Given the description of an element on the screen output the (x, y) to click on. 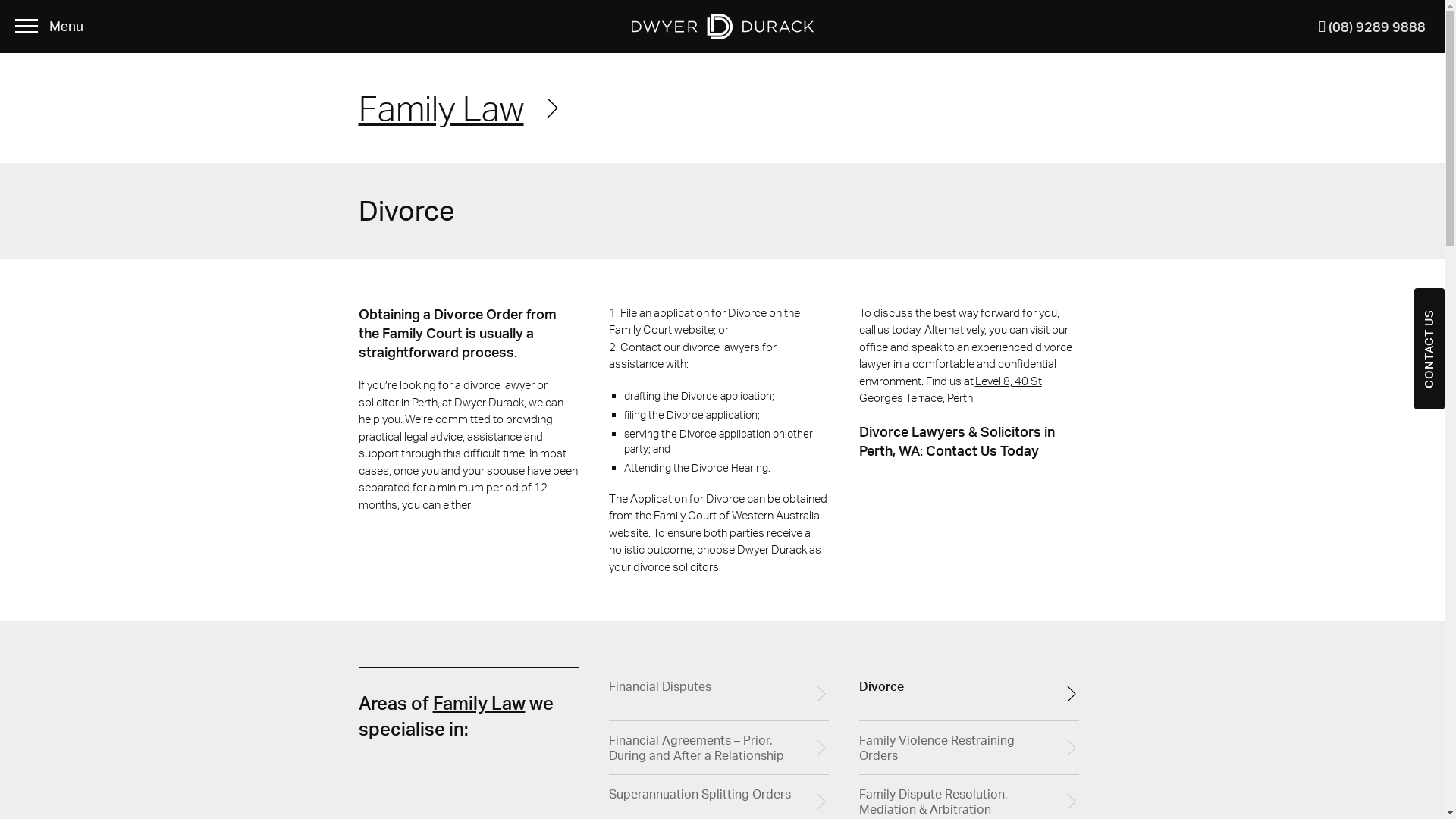
Dwyer Durack Lawyers Element type: hover (721, 26)
Menu Element type: text (54, 26)
website Element type: text (627, 532)
Family Law Element type: text (459, 107)
Financial Disputes Element type: text (718, 694)
Family Violence Restraining Orders Element type: text (968, 748)
Divorce Element type: text (968, 694)
Level 8, 40 St Georges Terrace, Perth Element type: text (949, 389)
Family Law Element type: text (478, 702)
